Given the description of an element on the screen output the (x, y) to click on. 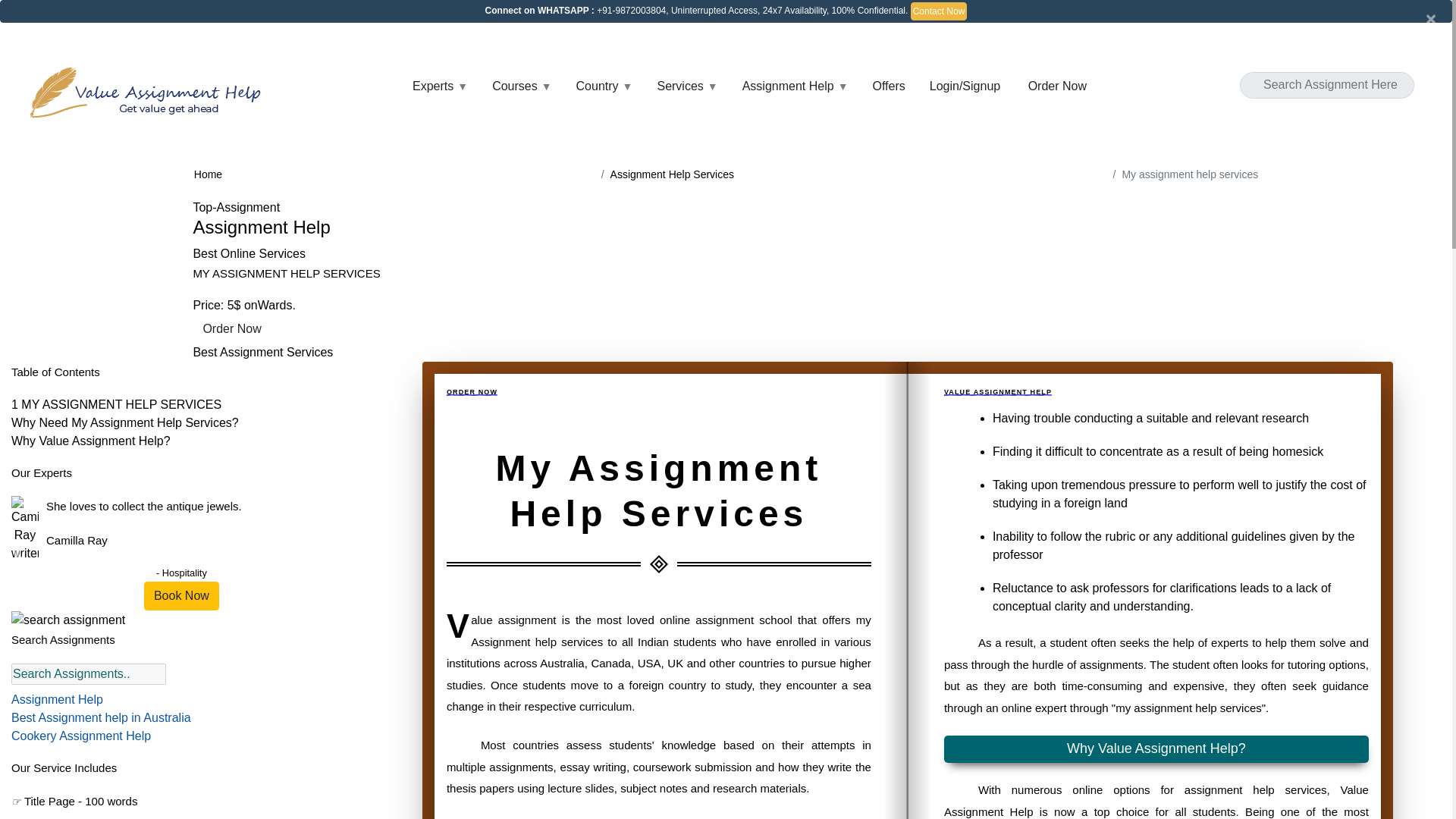
Contact Now (939, 11)
Value Assignment help (148, 91)
Experts (439, 85)
